Given the description of an element on the screen output the (x, y) to click on. 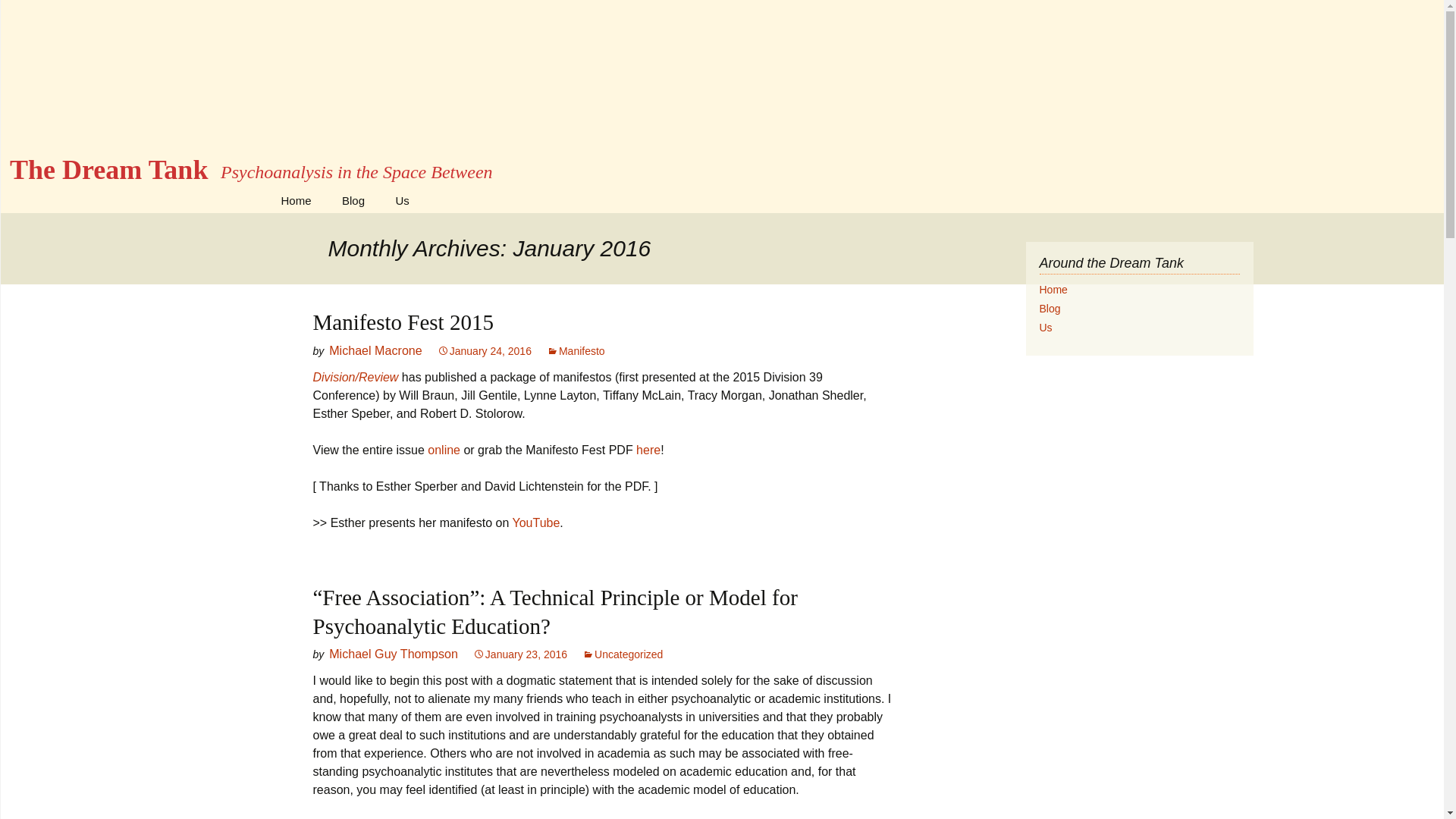
home page (444, 449)
The Dream Tank (295, 200)
blog home (353, 200)
Blog (1049, 308)
Permalink to Manifesto Fest 2015 (1049, 308)
January 23, 2016 (484, 350)
Skip to content (520, 654)
here (403, 322)
Home (648, 449)
Manifesto (1053, 289)
January 24, 2016 (576, 350)
